Given the description of an element on the screen output the (x, y) to click on. 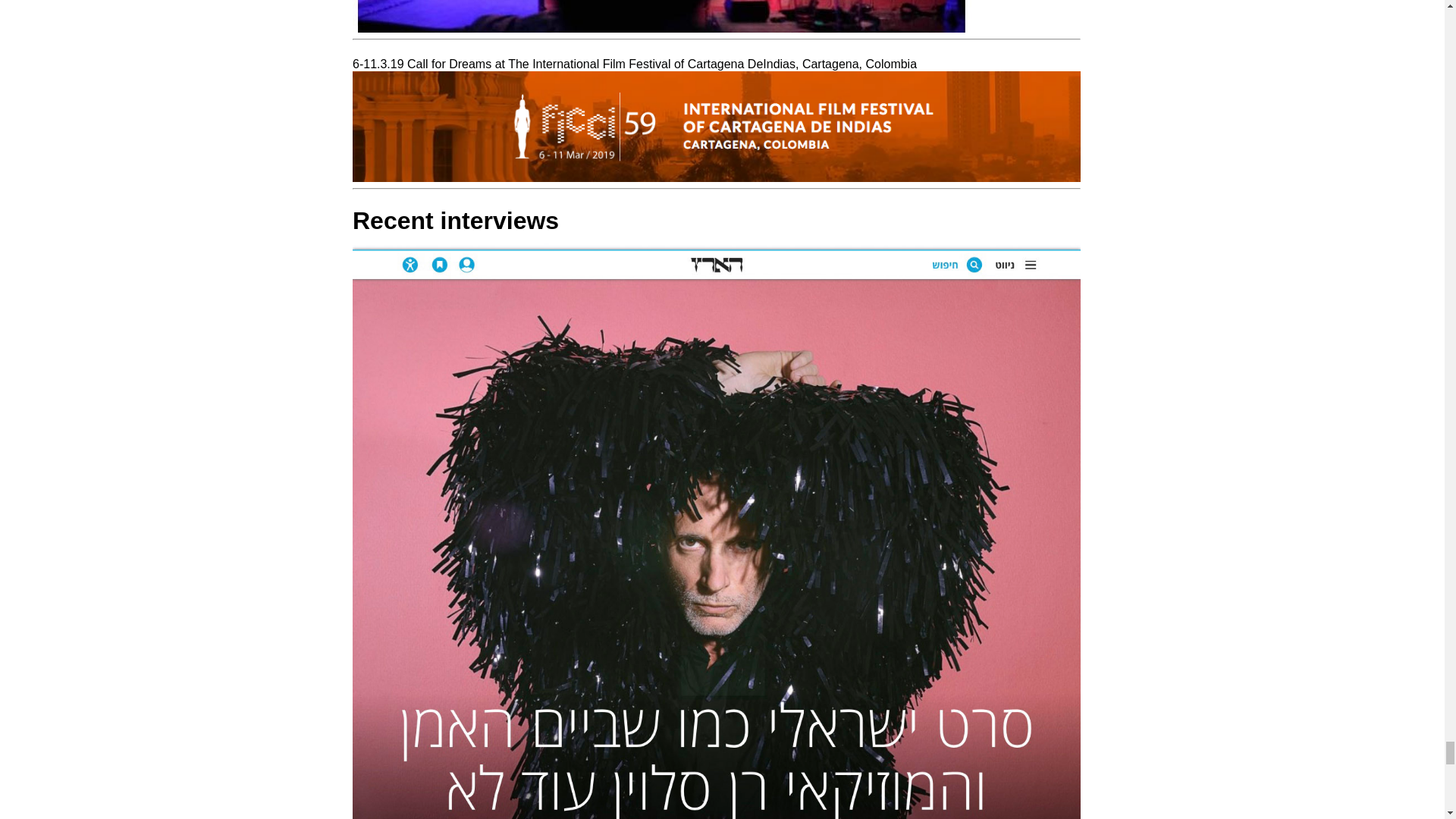
Page 1 (716, 117)
Page 1 (716, 16)
